Given the description of an element on the screen output the (x, y) to click on. 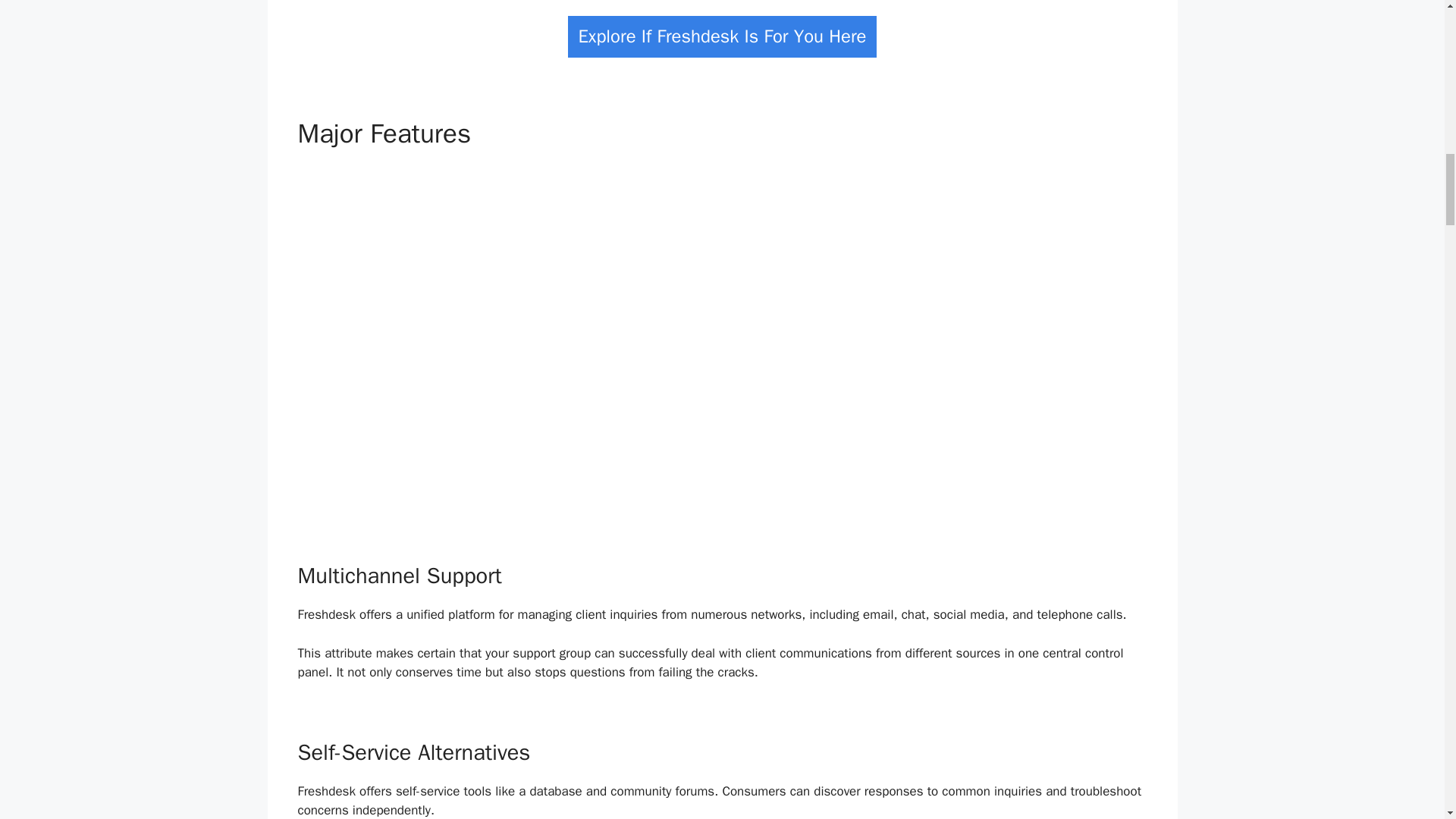
Explore If Freshdesk Is For You Here (721, 36)
